Given the description of an element on the screen output the (x, y) to click on. 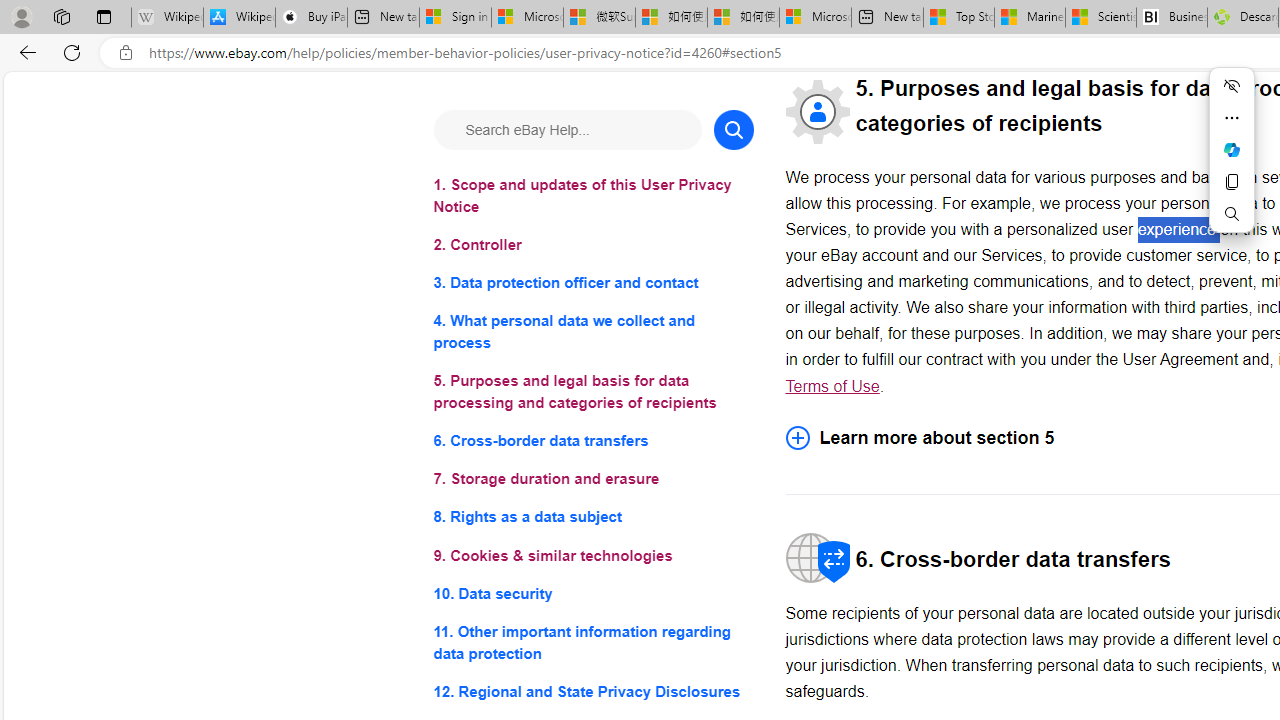
9. Cookies & similar technologies (592, 555)
Search eBay Help... (566, 129)
Copy (1231, 182)
Wikipedia - Sleeping (167, 17)
6. Cross-border data transfers (592, 440)
Microsoft account | Account Checkup (815, 17)
Microsoft Services Agreement (527, 17)
6. Cross-border data transfers (592, 440)
3. Data protection officer and contact (592, 283)
10. Data security (592, 592)
